Given the description of an element on the screen output the (x, y) to click on. 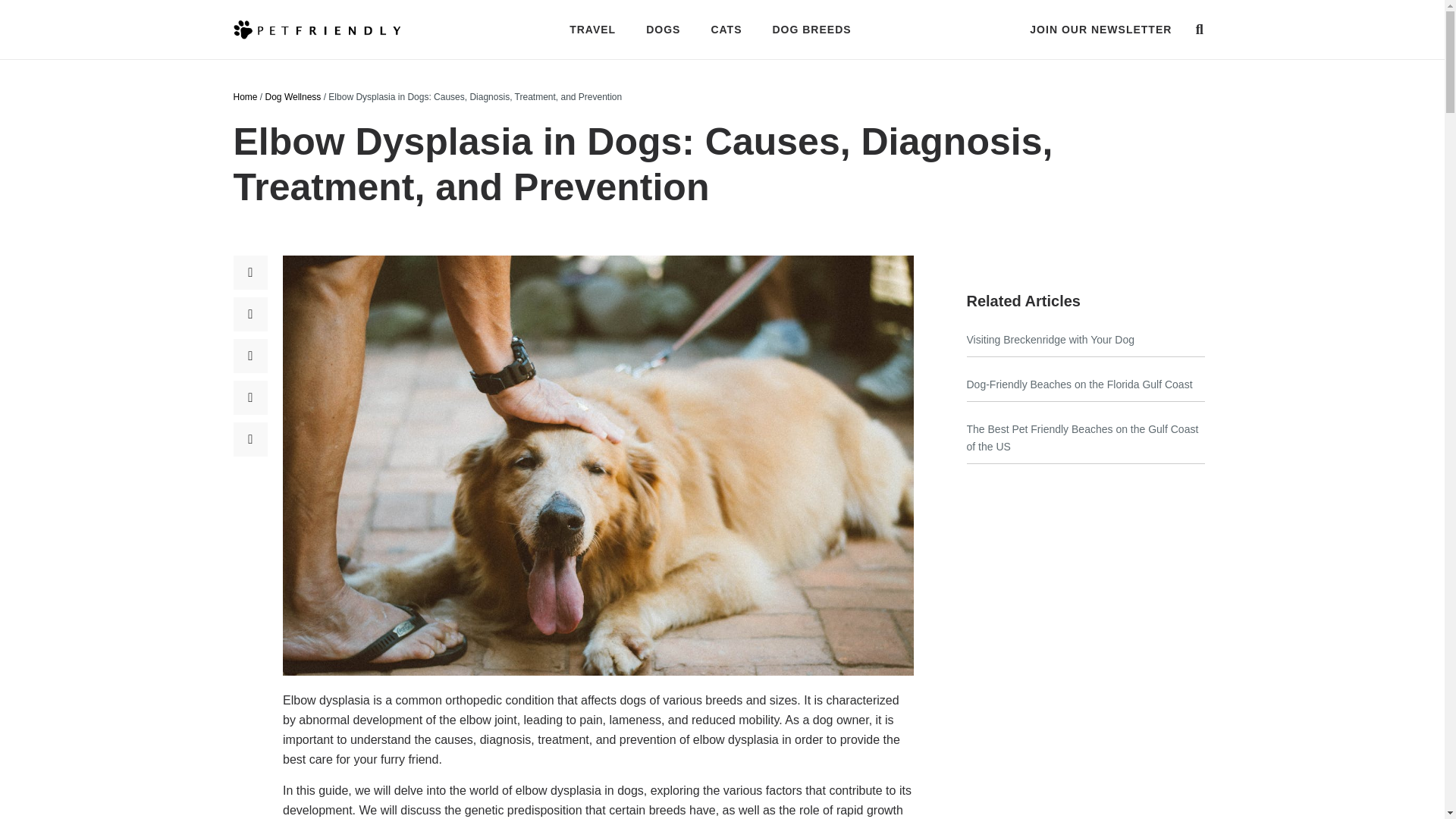
Visiting Breckenridge with Your Dog (1050, 339)
DOGS (662, 29)
Dog Wellness (292, 96)
CATS (726, 29)
Home (244, 96)
JOIN OUR NEWSLETTER (1100, 29)
TRAVEL (592, 29)
The Best Pet Friendly Beaches on the Gulf Coast of the US (1082, 437)
DOG BREEDS (811, 29)
Dog-Friendly Beaches on the Florida Gulf Coast (1079, 384)
